Given the description of an element on the screen output the (x, y) to click on. 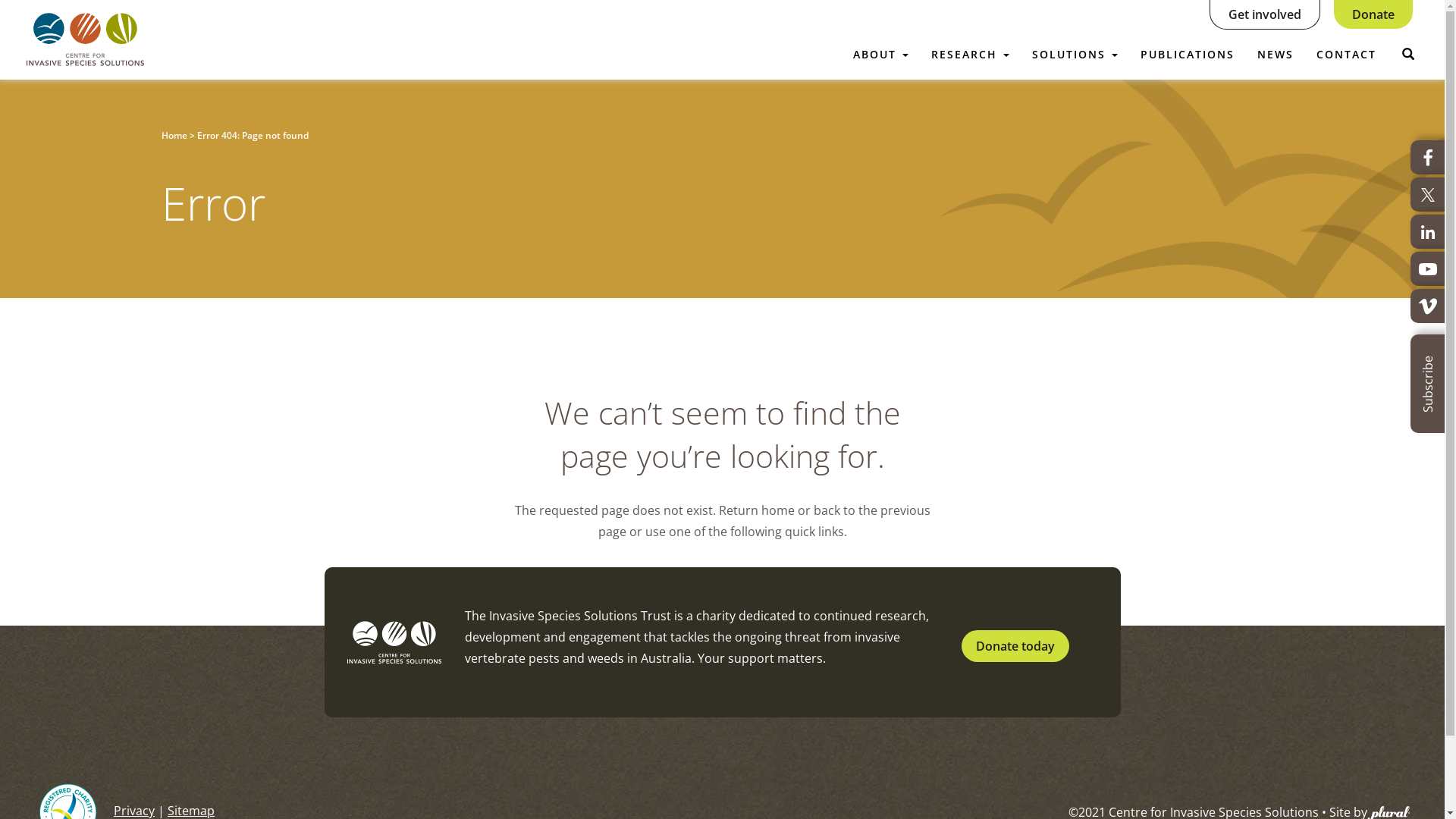
CONTACT Element type: text (1346, 37)
Donate today Element type: text (1015, 646)
PUBLICATIONS Element type: text (1187, 37)
RESEARCH Element type: text (969, 37)
Donate Element type: text (1372, 14)
ABOUT Element type: text (880, 37)
SOLUTIONS Element type: text (1074, 37)
Home Element type: text (173, 134)
Search Element type: text (1408, 54)
Get involved Element type: text (1264, 14)
NEWS Element type: text (1275, 37)
Search Element type: text (918, 112)
